Given the description of an element on the screen output the (x, y) to click on. 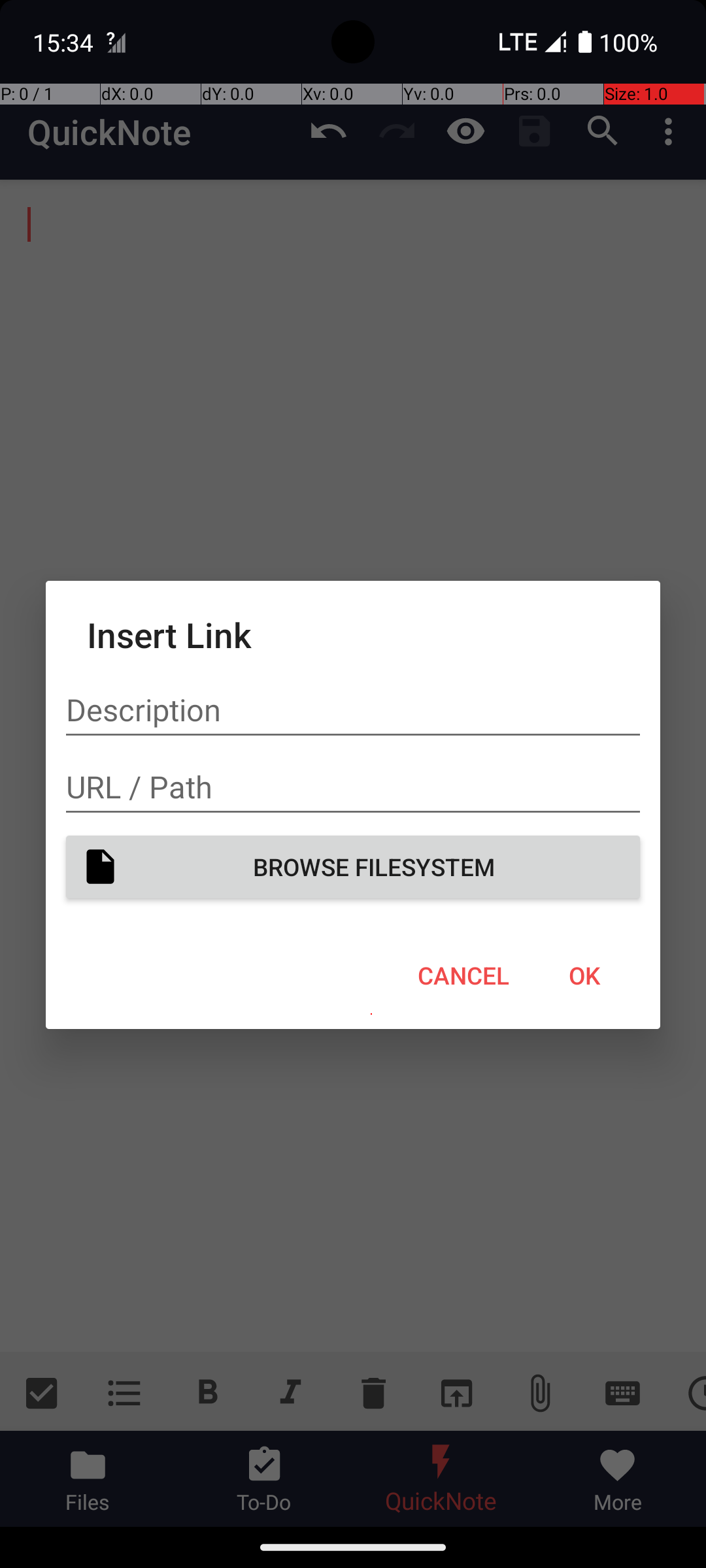
URL / Path Element type: android.widget.EditText (352, 786)
BROWSE FILESYSTEM Element type: android.widget.Button (352, 866)
